Given the description of an element on the screen output the (x, y) to click on. 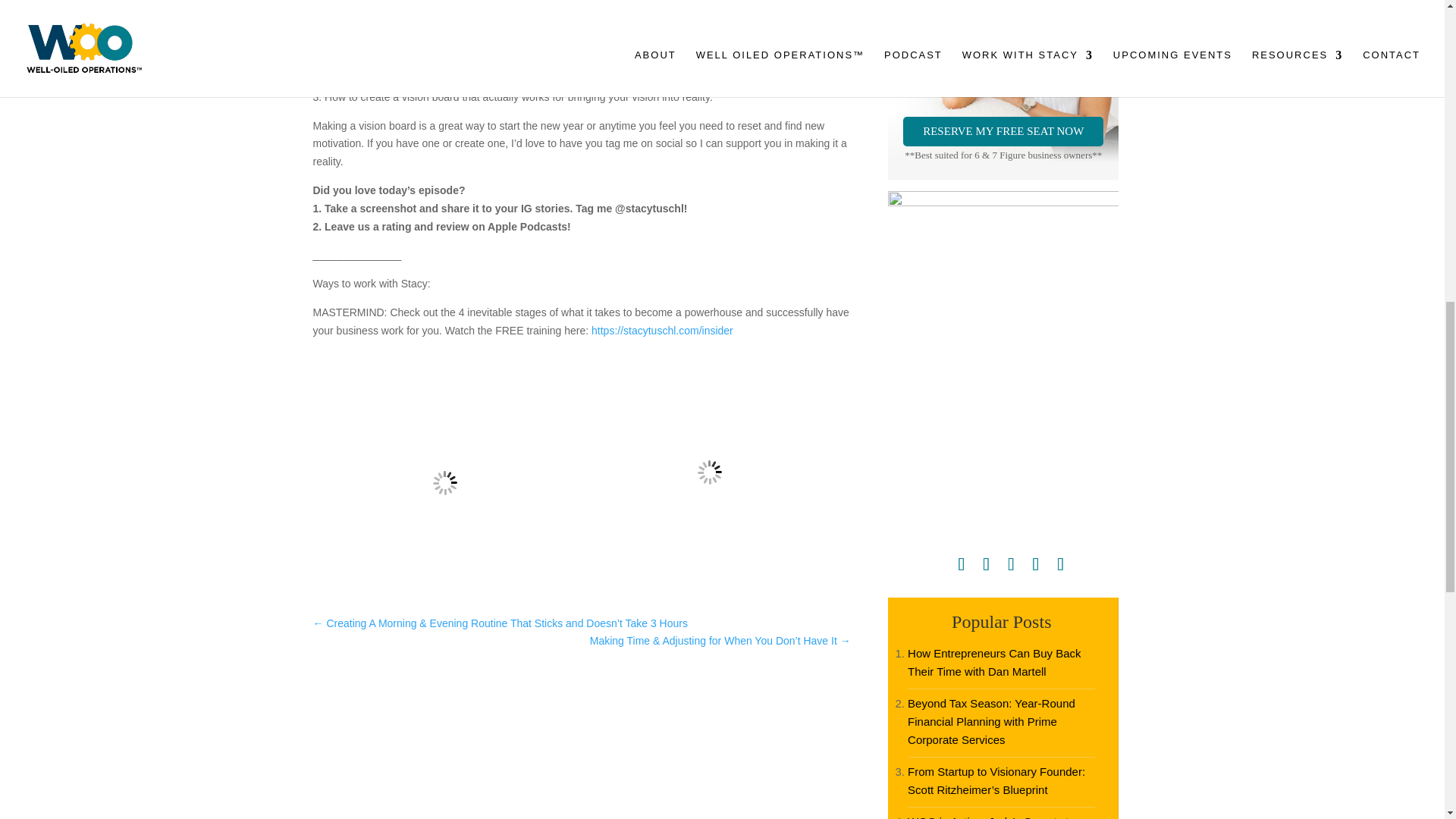
How Entrepreneurs Can Buy Back Their Time with Dan Martell (993, 662)
RESERVE MY FREE SEAT NOW (1002, 132)
